Given the description of an element on the screen output the (x, y) to click on. 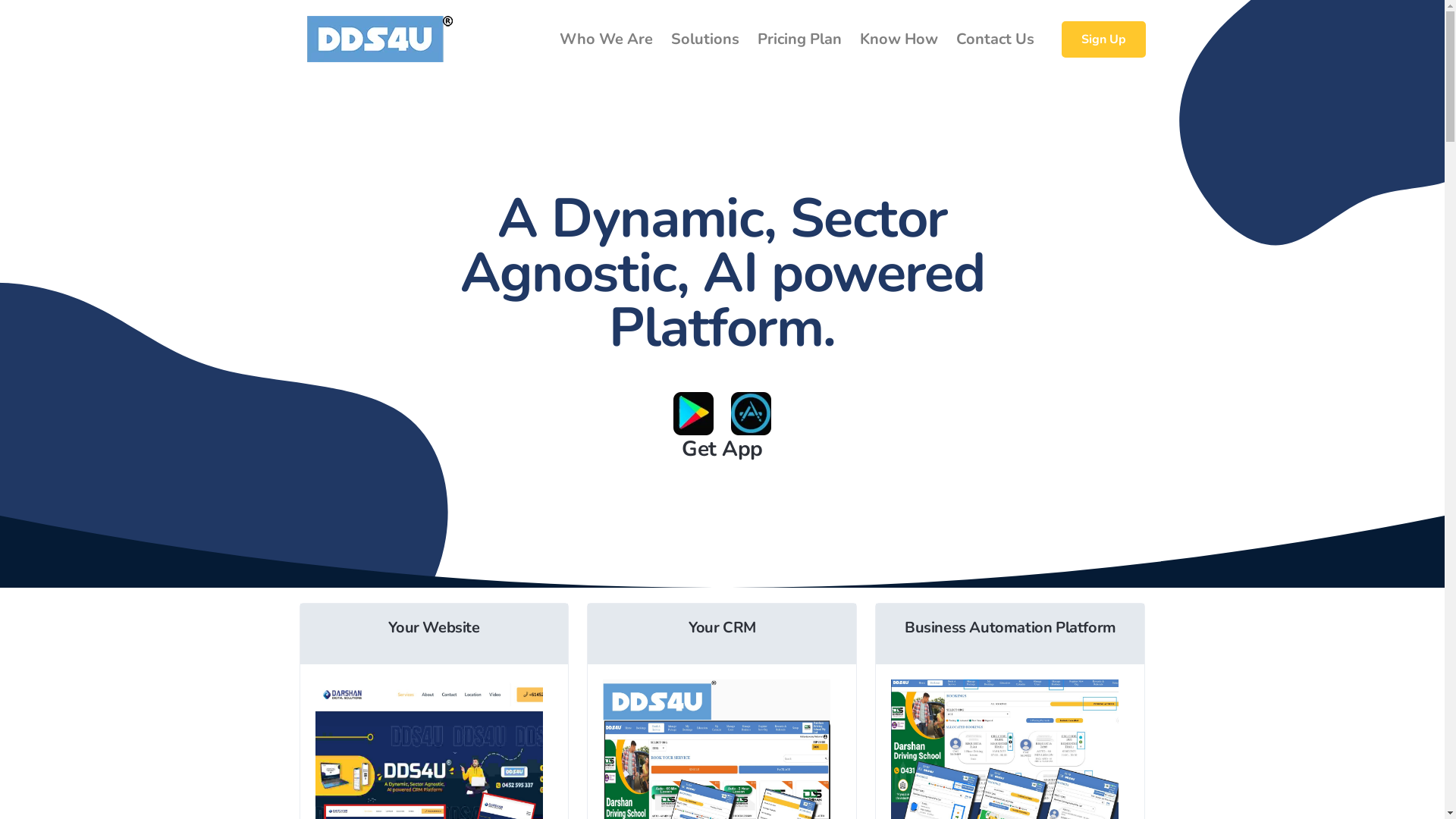
Pricing Plan Element type: text (798, 38)
Contact Us Element type: text (994, 38)
Who We Are Element type: text (606, 38)
Solutions Element type: text (704, 38)
Sign Up Element type: text (1103, 39)
Know How Element type: text (898, 38)
